Given the description of an element on the screen output the (x, y) to click on. 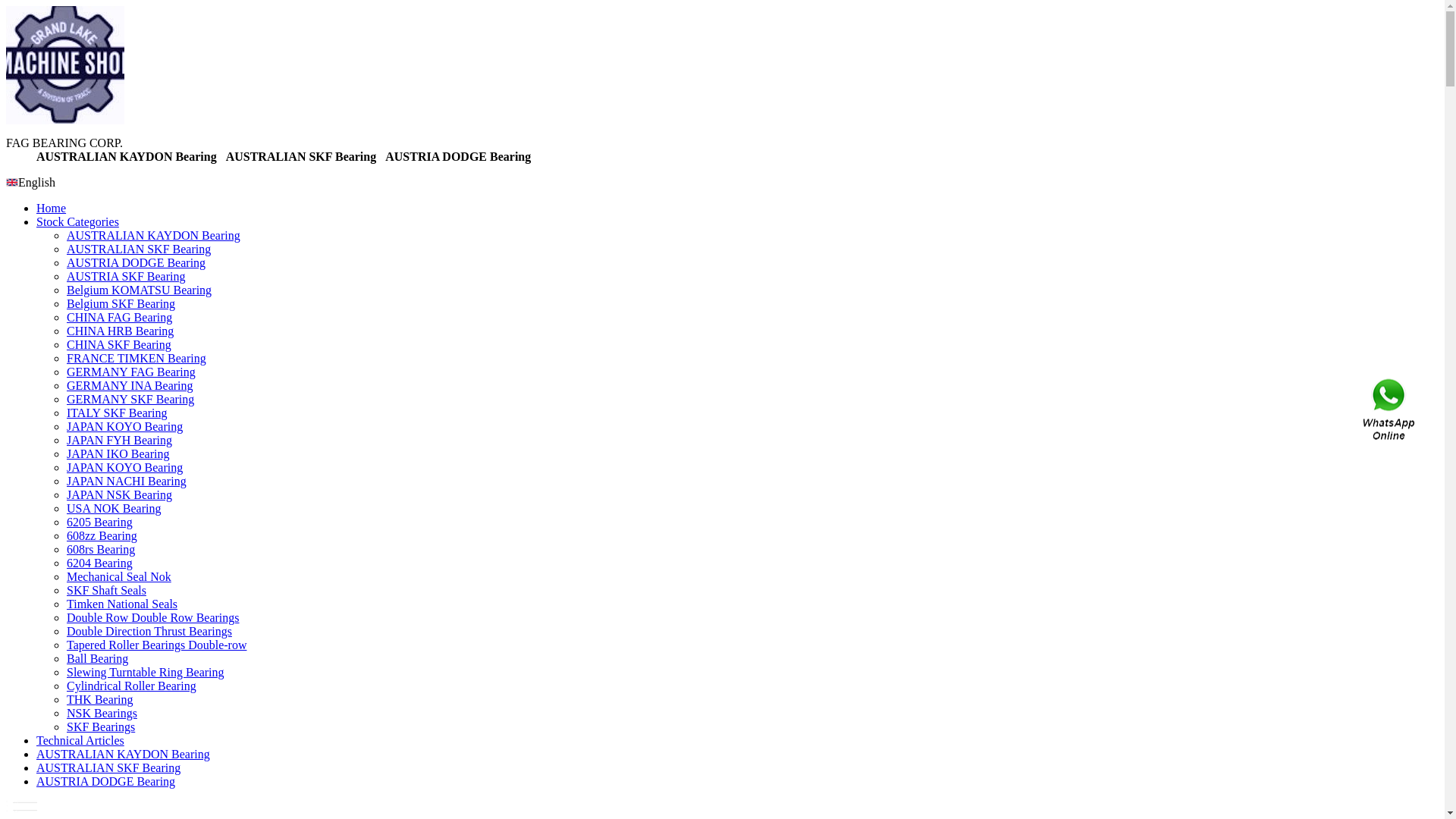
Mechanical Seal Nok Element type: text (118, 576)
Timken National Seals Element type: text (121, 603)
AUSTRALIAN SKF Bearing Element type: text (138, 248)
JAPAN IKO Bearing Element type: text (117, 453)
Double Direction Thrust Bearings Element type: text (149, 630)
608rs Bearing Element type: text (100, 548)
6204 Bearing Element type: text (99, 562)
AUSTRIA DODGE Bearing Element type: text (135, 262)
NSK Bearings Element type: text (101, 712)
GERMANY FAG Bearing Element type: text (130, 371)
JAPAN FYH Bearing Element type: text (119, 439)
AUSTRIA SKF Bearing Element type: text (125, 275)
Stock Categories Element type: text (77, 221)
AUSTRALIAN KAYDON Bearing Element type: text (123, 753)
Double Row Double Row Bearings Element type: text (152, 617)
GERMANY INA Bearing Element type: text (129, 385)
JAPAN KOYO Bearing Element type: text (124, 426)
Technical Articles Element type: text (80, 740)
Tapered Roller Bearings Double-row Element type: text (156, 644)
Ball Bearing Element type: text (97, 658)
CHINA FAG Bearing Element type: text (119, 316)
JAPAN NACHI Bearing Element type: text (126, 480)
AUSTRALIAN SKF Bearing Element type: text (108, 767)
608zz Bearing Element type: text (101, 535)
SKF Bearings Element type: text (100, 726)
Contact Us Element type: hover (1389, 409)
ITALY SKF Bearing Element type: text (116, 412)
THK Bearing Element type: text (99, 699)
Cylindrical Roller Bearing Element type: text (131, 685)
FRANCE TIMKEN Bearing Element type: text (136, 357)
6205 Bearing Element type: text (99, 521)
AUSTRALIAN KAYDON Bearing Element type: text (153, 235)
GERMANY SKF Bearing Element type: text (130, 398)
CHINA SKF Bearing Element type: text (118, 344)
FAG BEARING CORP. Element type: hover (65, 119)
JAPAN NSK Bearing Element type: text (119, 494)
Slewing Turntable Ring Bearing Element type: text (145, 671)
AUSTRIA DODGE Bearing Element type: text (105, 781)
CHINA HRB Bearing Element type: text (119, 330)
Home Element type: text (50, 207)
Belgium SKF Bearing Element type: text (120, 303)
SKF Shaft Seals Element type: text (106, 589)
USA NOK Bearing Element type: text (113, 508)
Belgium KOMATSU Bearing Element type: text (138, 289)
JAPAN KOYO Bearing Element type: text (124, 467)
